Given the description of an element on the screen output the (x, y) to click on. 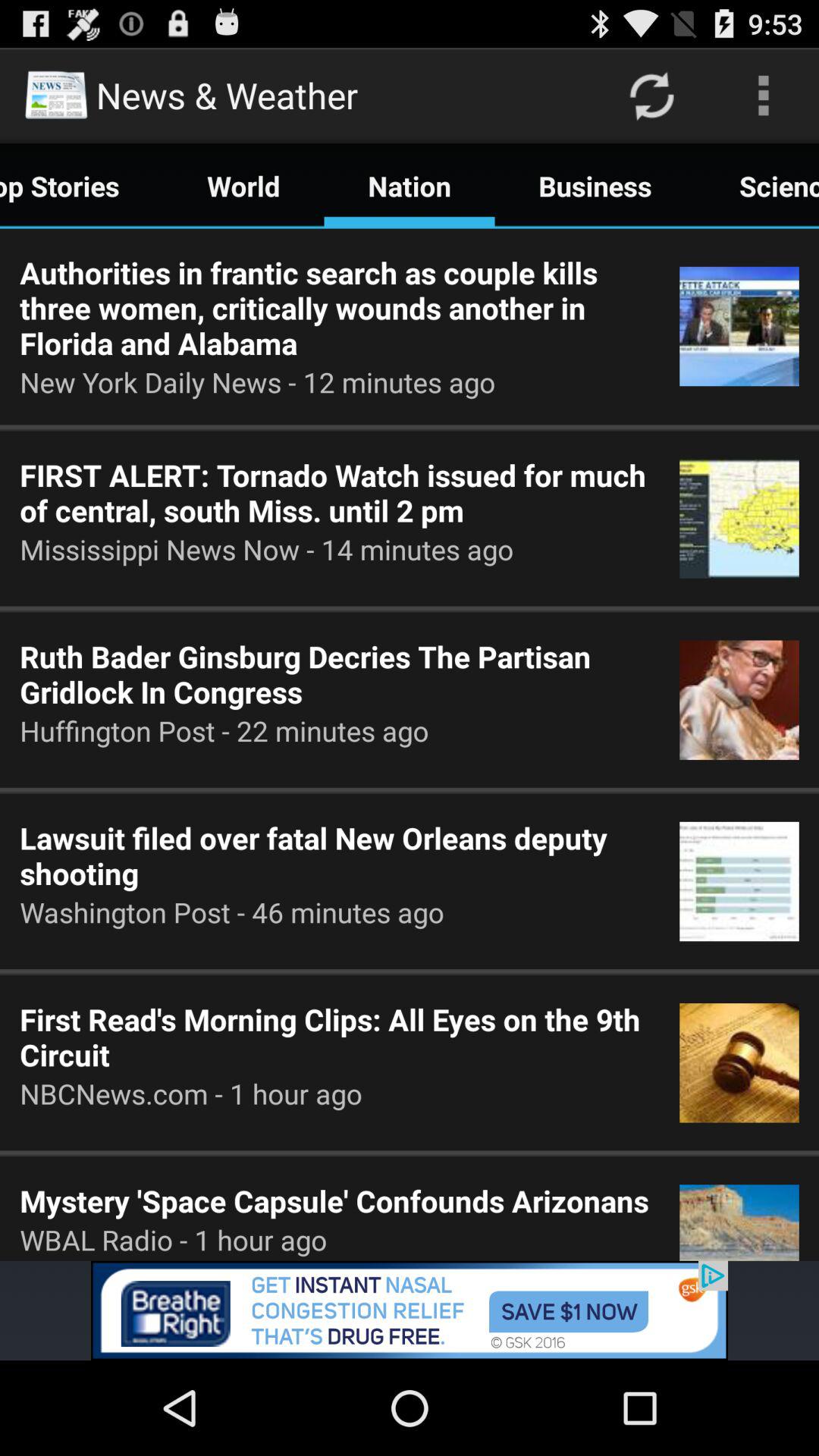
open advertisement (409, 1310)
